Given the description of an element on the screen output the (x, y) to click on. 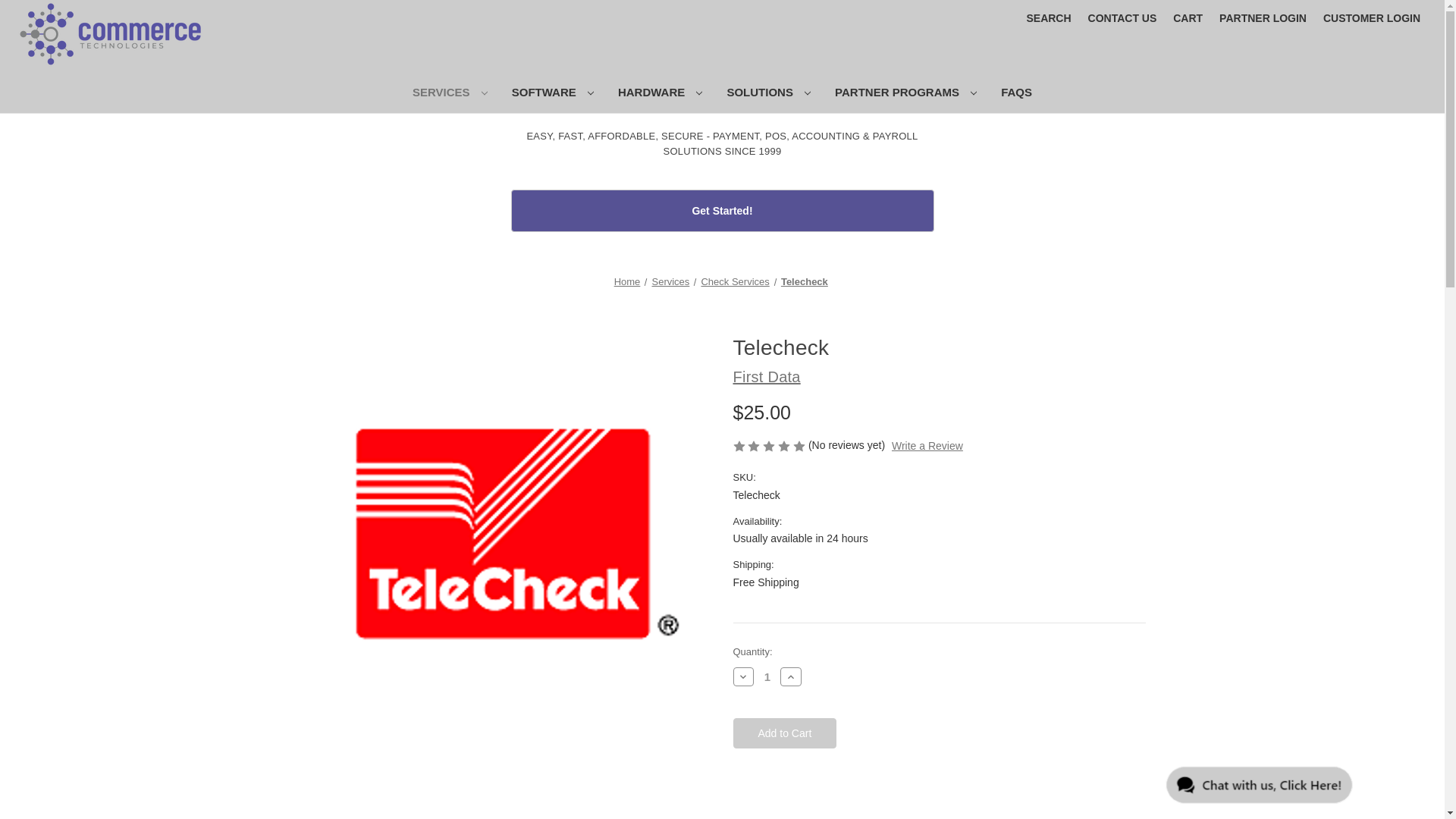
SEARCH (1047, 18)
Product rating is 0 of 5 (770, 444)
HARDWARE (659, 94)
Telecheck (504, 566)
Add to Cart (783, 733)
SOFTWARE (552, 94)
1 (767, 676)
CUSTOMER LOGIN (1371, 18)
PARTNER LOGIN (1262, 18)
CART (1187, 18)
CONTACT US (1123, 18)
Commerce Technologies (110, 34)
SERVICES (449, 94)
Get Started! (722, 210)
